Given the description of an element on the screen output the (x, y) to click on. 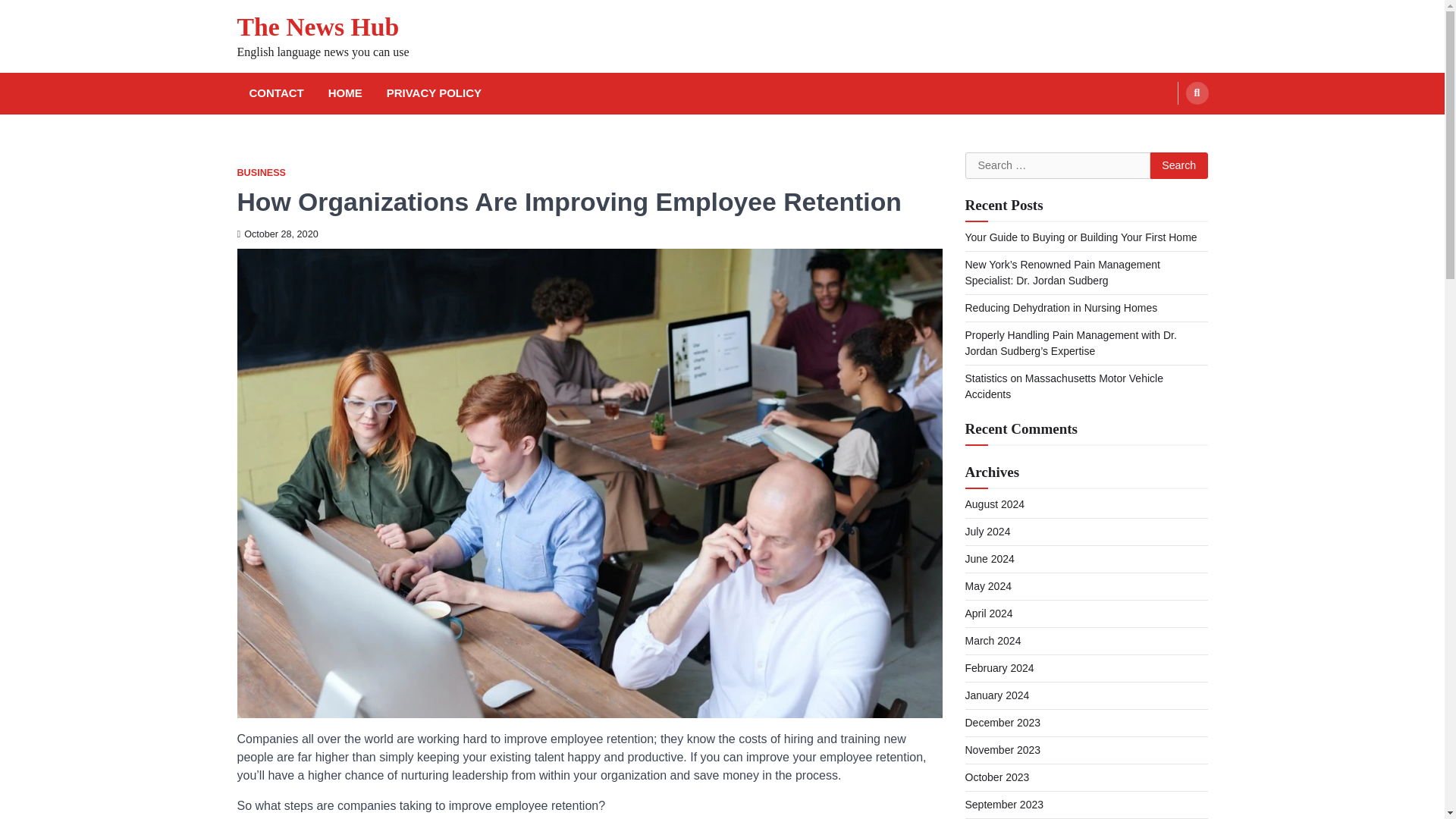
Statistics on Massachusetts Motor Vehicle Accidents (1062, 386)
Reducing Dehydration in Nursing Homes  (1061, 307)
Your Guide to Buying or Building Your First Home (1079, 236)
Search (1197, 92)
October 2023 (996, 776)
June 2024 (988, 558)
Search (1179, 165)
PRIVACY POLICY (433, 93)
CONTACT (275, 93)
April 2024 (987, 613)
